Given the description of an element on the screen output the (x, y) to click on. 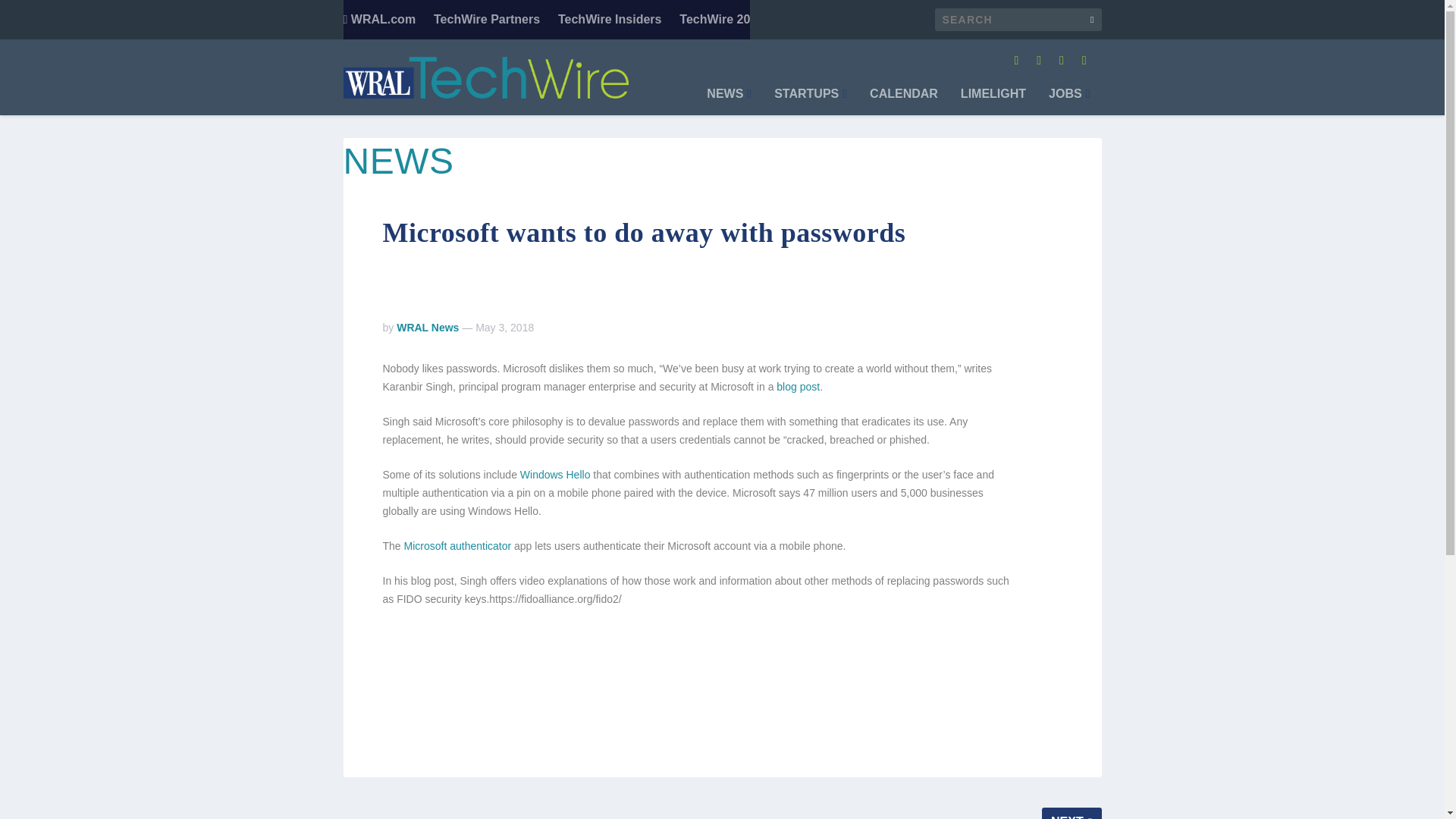
JOBS (1068, 101)
Search for: (1017, 19)
TechWire Insiders (609, 19)
TechWire 20 (714, 19)
CALENDAR (903, 101)
WRAL.com (378, 19)
STARTUPS (810, 101)
LIMELIGHT (993, 101)
NEWS (728, 101)
TechWire Partners (486, 19)
